Given the description of an element on the screen output the (x, y) to click on. 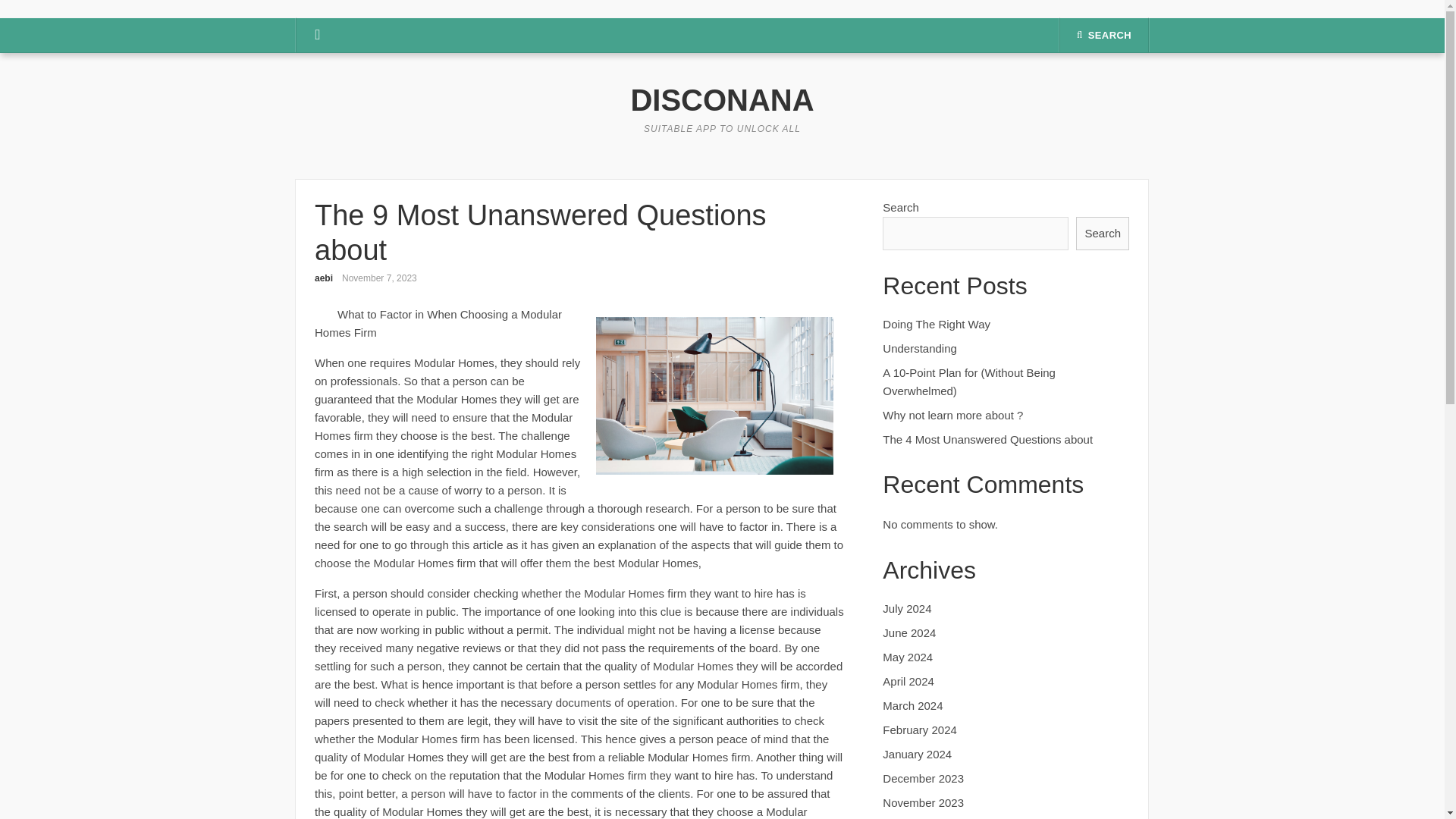
July 2024 (906, 608)
SEARCH (1104, 34)
May 2024 (907, 656)
December 2023 (922, 778)
March 2024 (912, 705)
February 2024 (919, 729)
DISCONANA (721, 100)
Doing The Right Way (936, 323)
April 2024 (908, 680)
aebi (323, 277)
Search (1102, 233)
January 2024 (917, 753)
November 2023 (922, 802)
The 4 Most Unanswered Questions about (987, 439)
Understanding (919, 348)
